Given the description of an element on the screen output the (x, y) to click on. 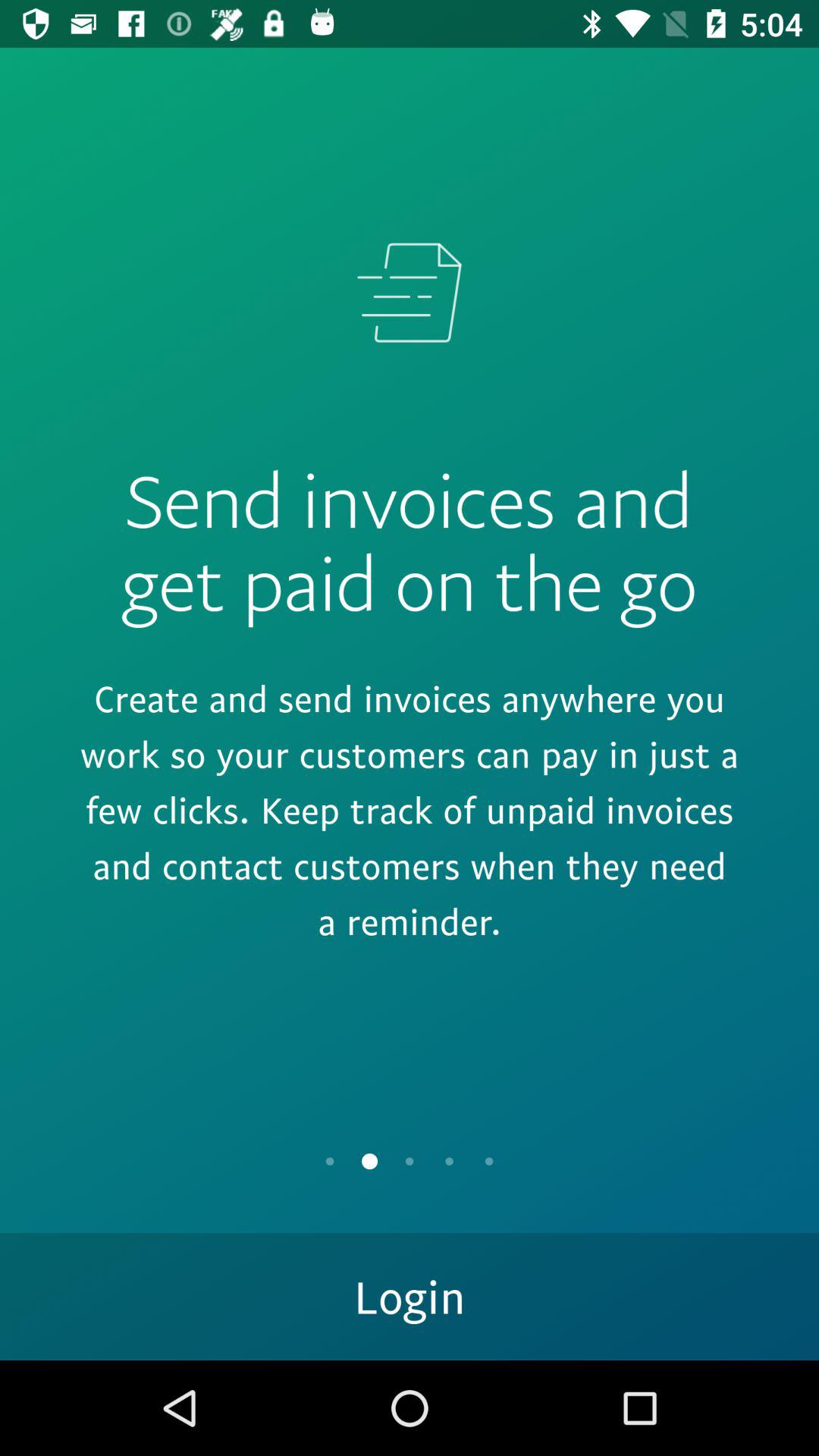
open the login item (409, 1296)
